Given the description of an element on the screen output the (x, y) to click on. 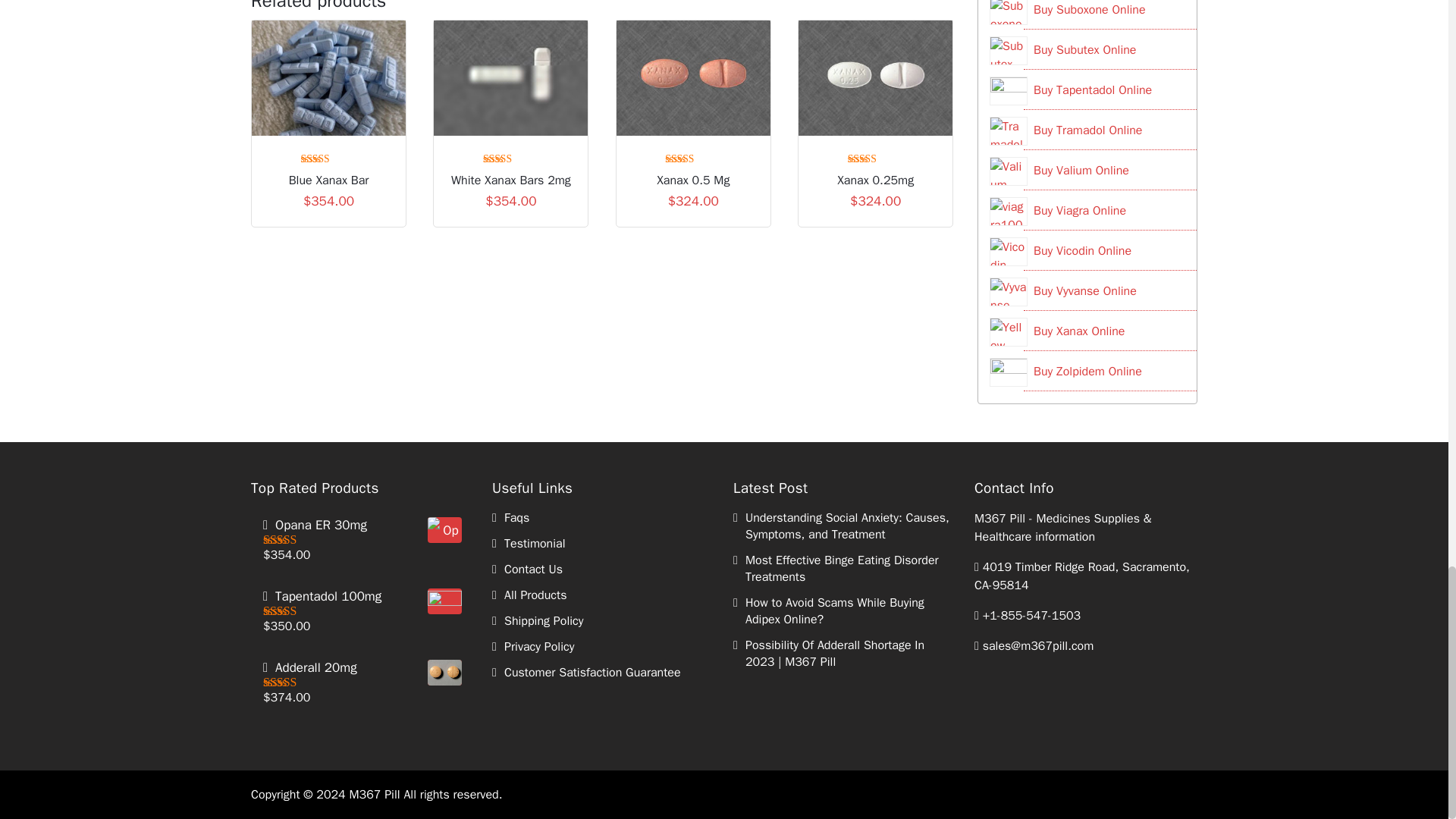
Rated 4.60 out of 5 (692, 157)
Rated 4.40 out of 5 (510, 157)
Rated 4.60 out of 5 (328, 157)
